Given the description of an element on the screen output the (x, y) to click on. 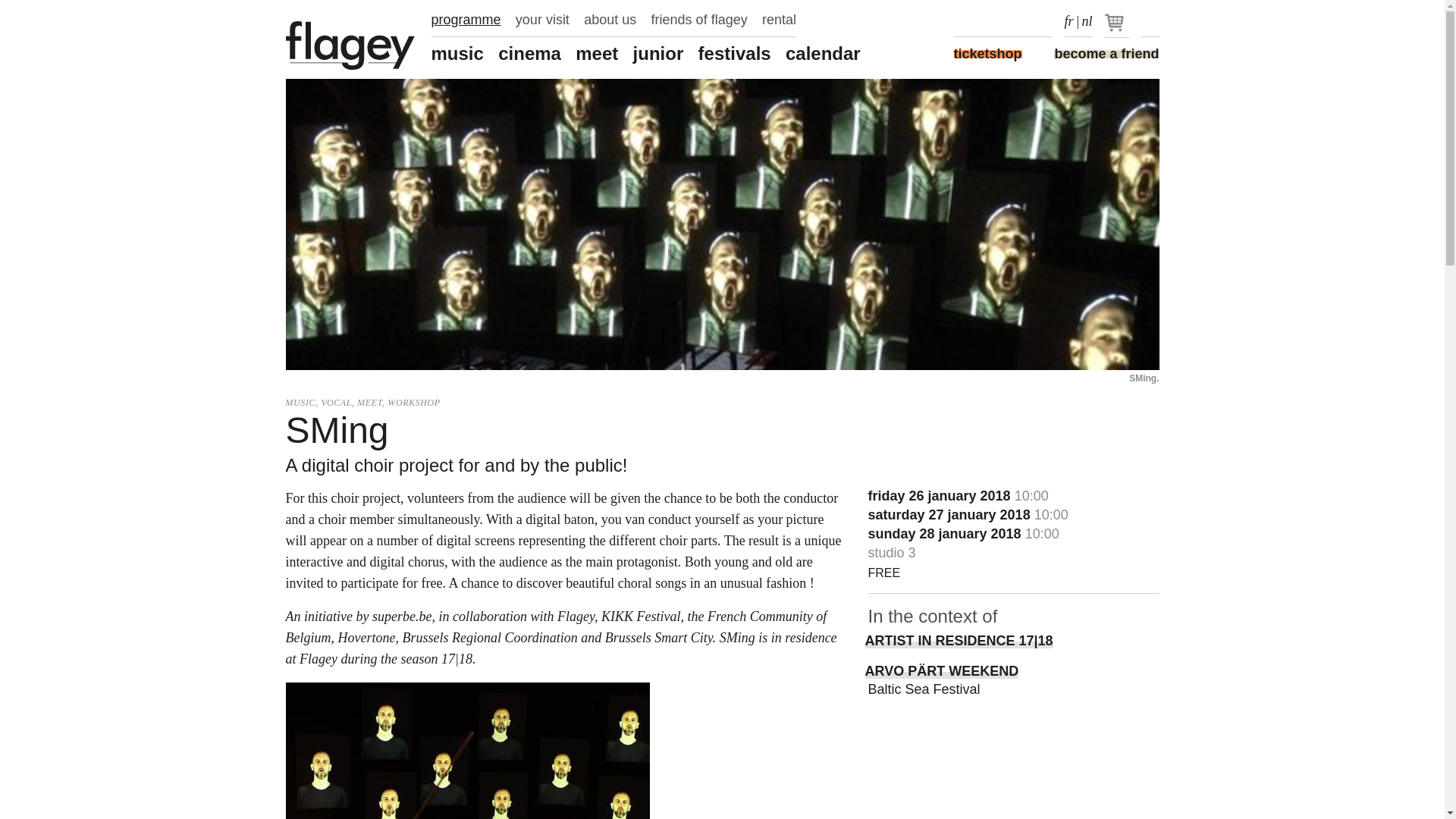
music (456, 53)
Homepage (349, 45)
rental (778, 19)
friends of flagey (699, 19)
your visit (542, 19)
programme (465, 19)
meet (596, 53)
junior (658, 53)
cinema (528, 53)
about us (609, 19)
